Given the description of an element on the screen output the (x, y) to click on. 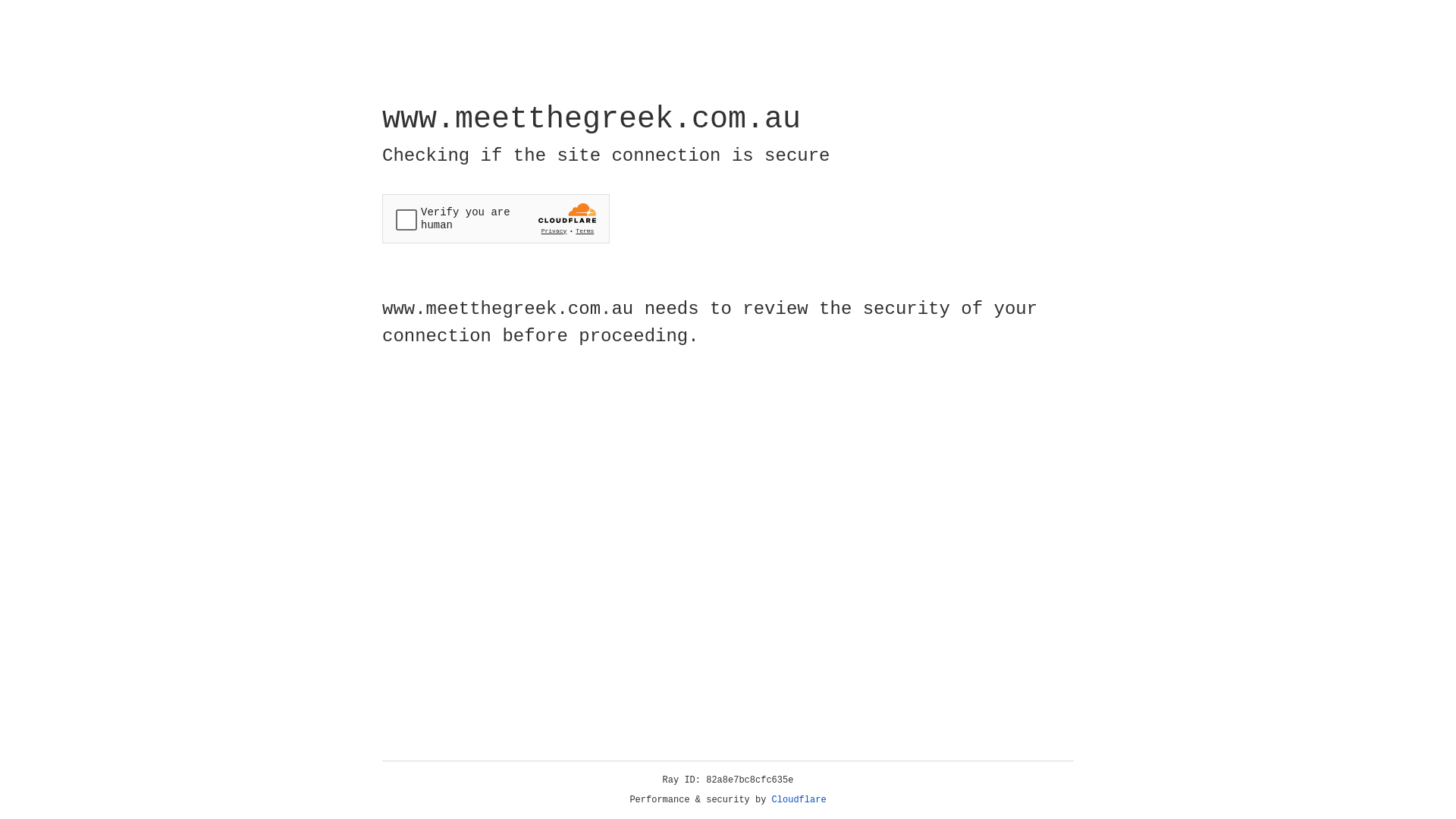
Cloudflare Element type: text (798, 799)
Widget containing a Cloudflare security challenge Element type: hover (495, 218)
